Given the description of an element on the screen output the (x, y) to click on. 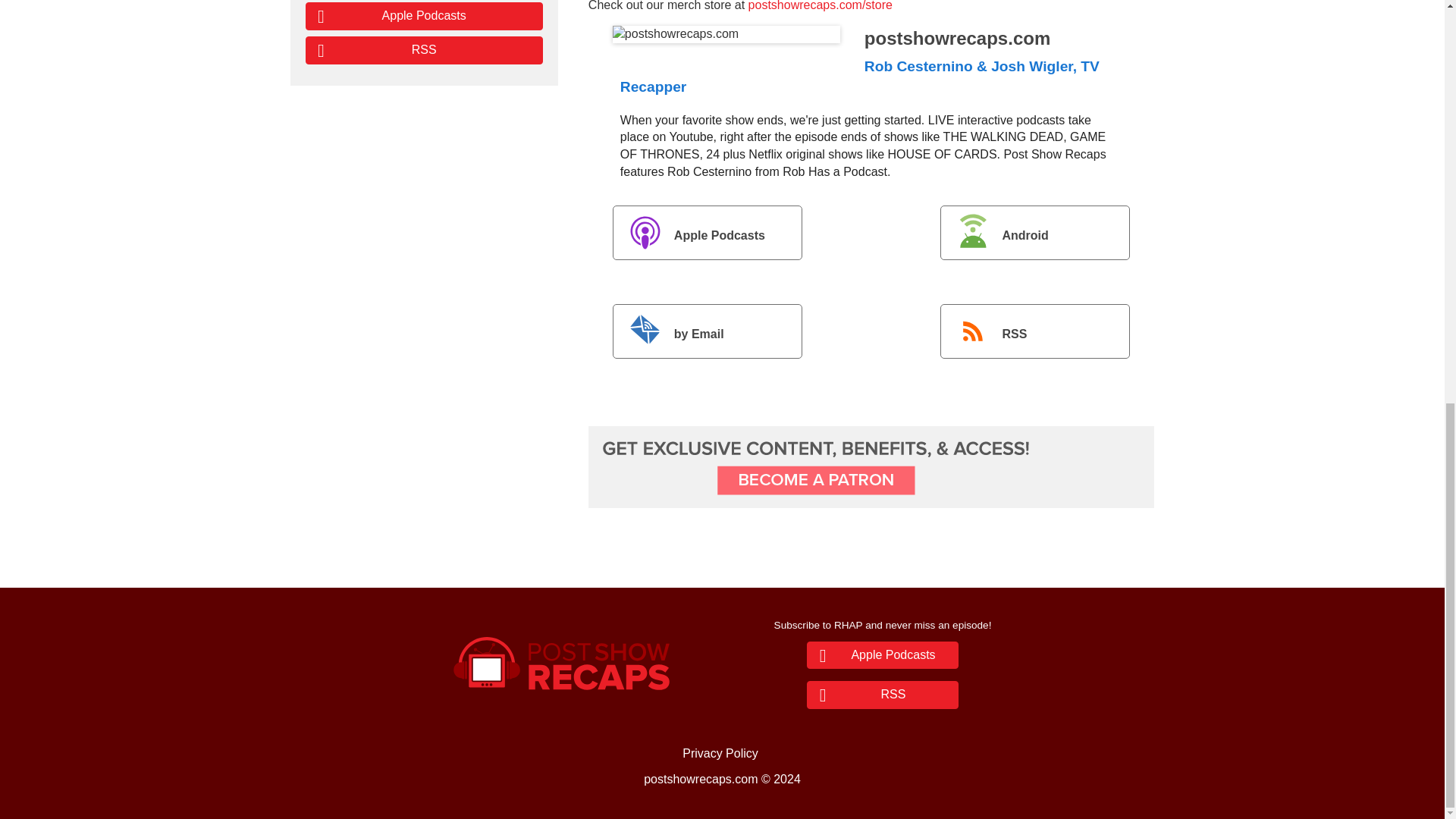
Subscribe by Email (707, 330)
Subscribe on Apple Podcasts (707, 232)
postshowrecaps.com (726, 34)
Subscribe via RSS (1034, 330)
Subscribe on Android (1034, 232)
